Given the description of an element on the screen output the (x, y) to click on. 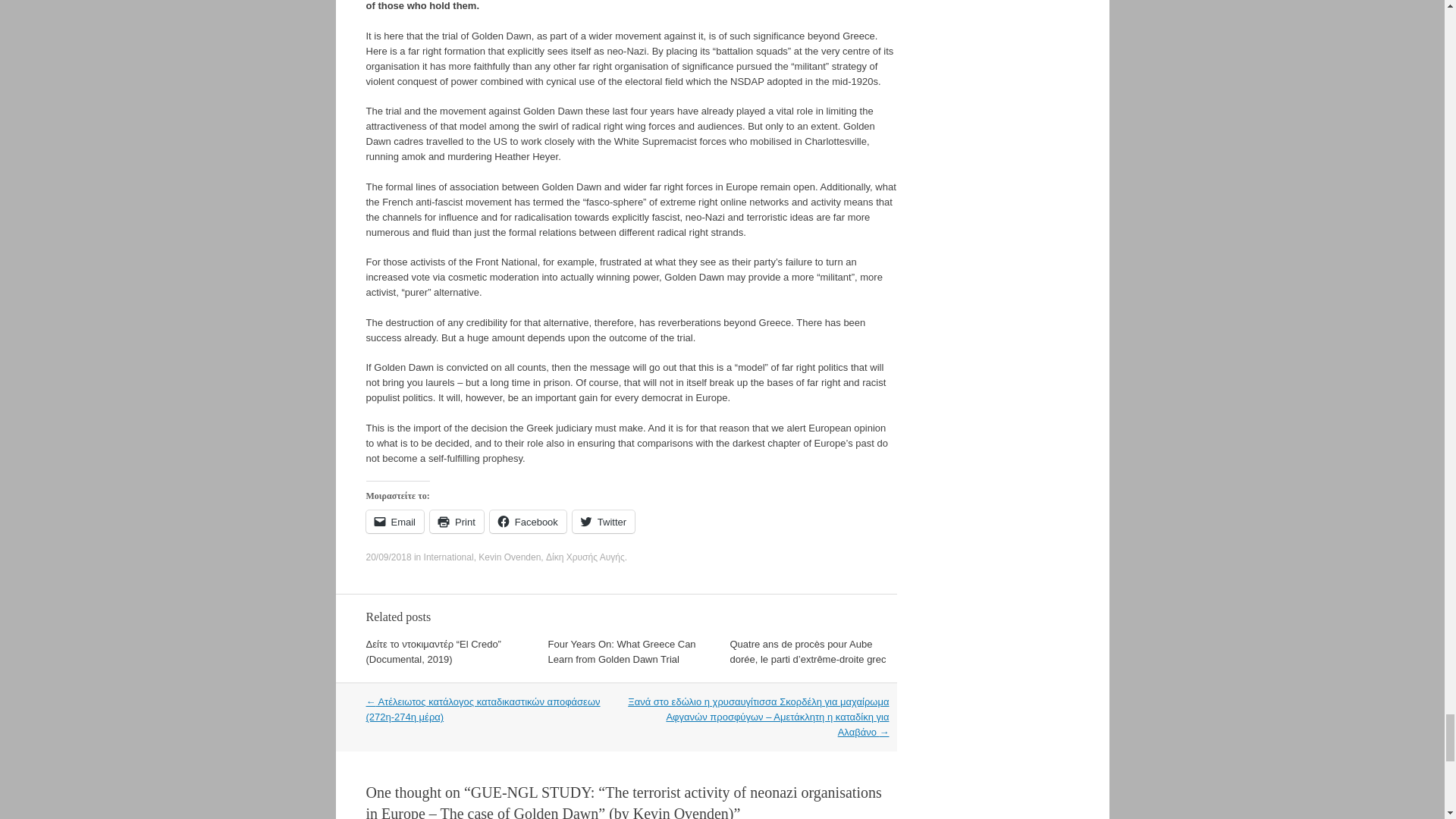
Click to share on Facebook (527, 521)
Click to print (456, 521)
Click to share on Twitter (603, 521)
Click to email a link to a friend (394, 521)
